Given the description of an element on the screen output the (x, y) to click on. 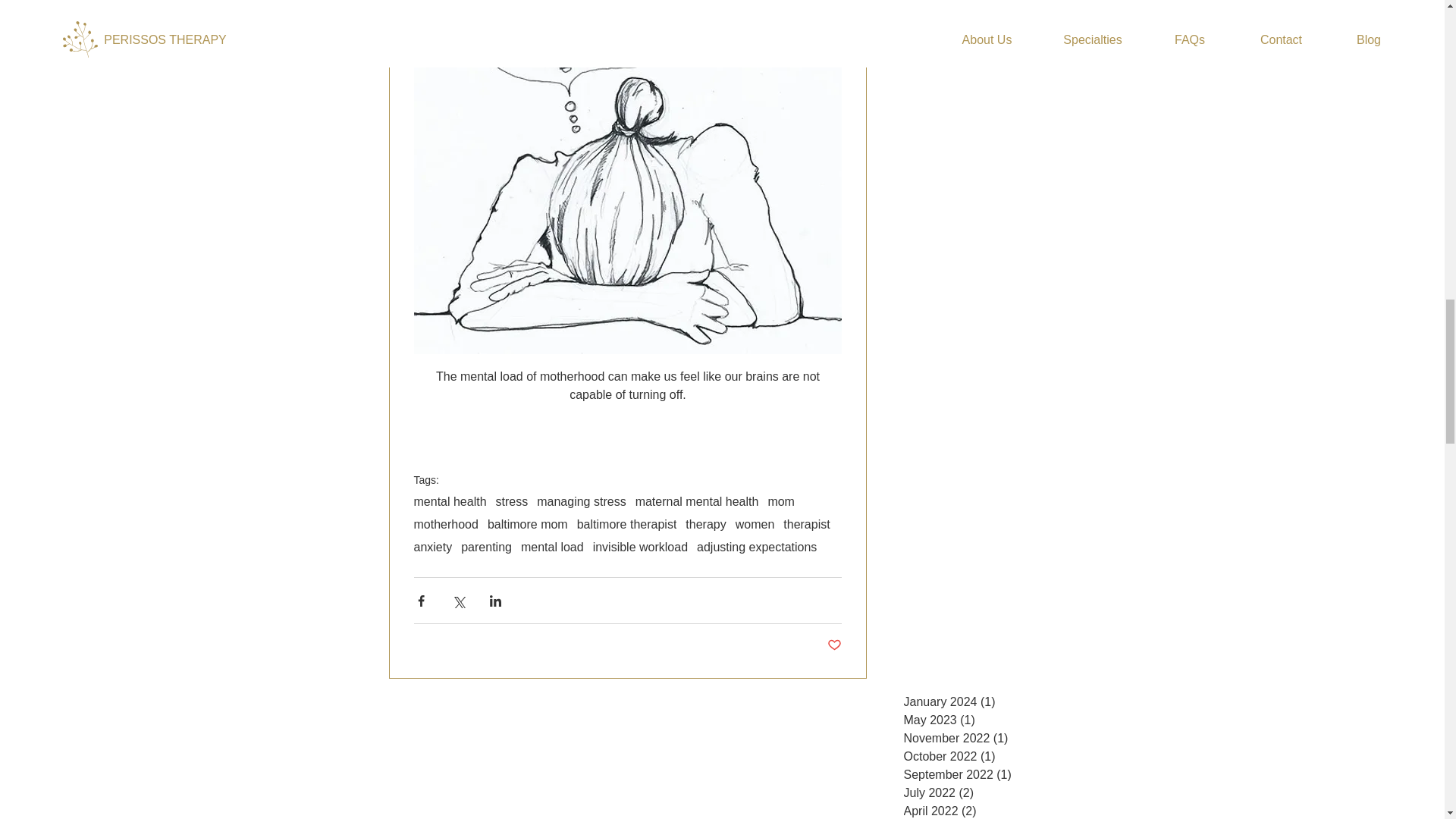
mom (780, 501)
managing stress (581, 501)
women (754, 524)
anxiety (432, 547)
maternal mental health (696, 501)
adjusting expectations (756, 547)
baltimore therapist (626, 524)
baltimore mom (527, 524)
therapist (806, 524)
therapy (705, 524)
stress (512, 501)
Post not marked as liked (834, 645)
mental health (449, 501)
mental load (552, 547)
motherhood (446, 524)
